Given the description of an element on the screen output the (x, y) to click on. 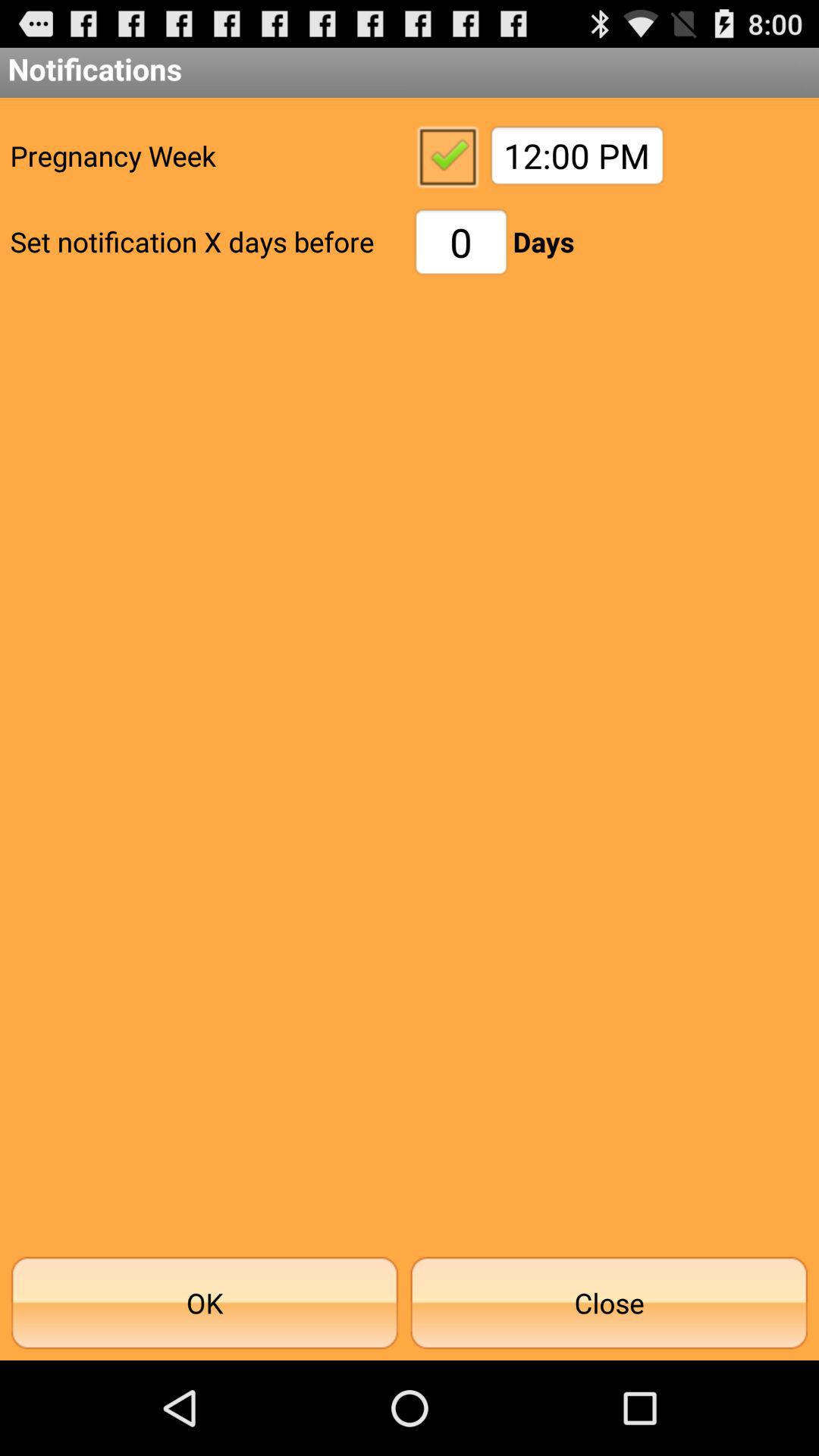
select option (447, 155)
